Given the description of an element on the screen output the (x, y) to click on. 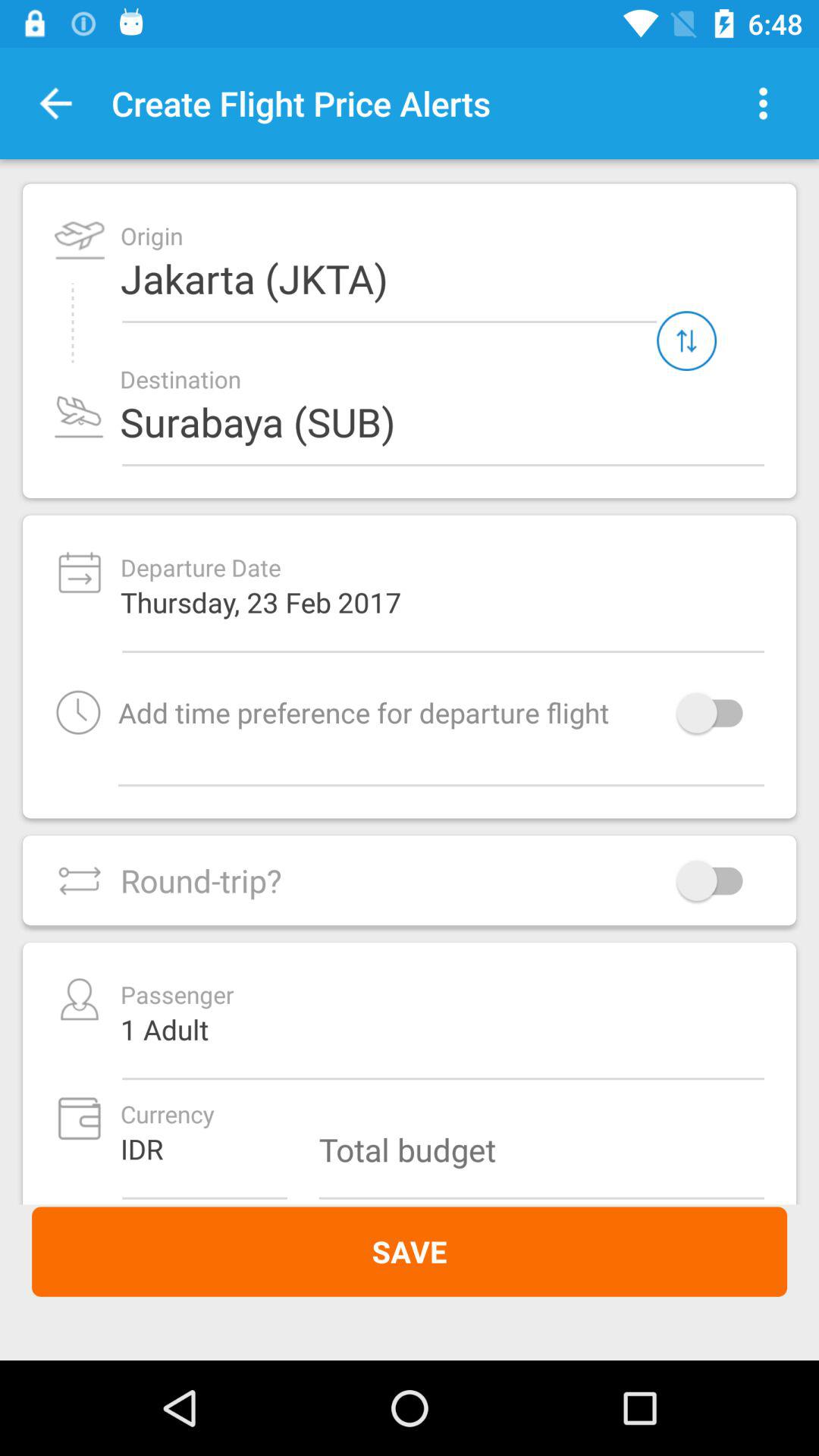
toggle round trip button (717, 880)
